Given the description of an element on the screen output the (x, y) to click on. 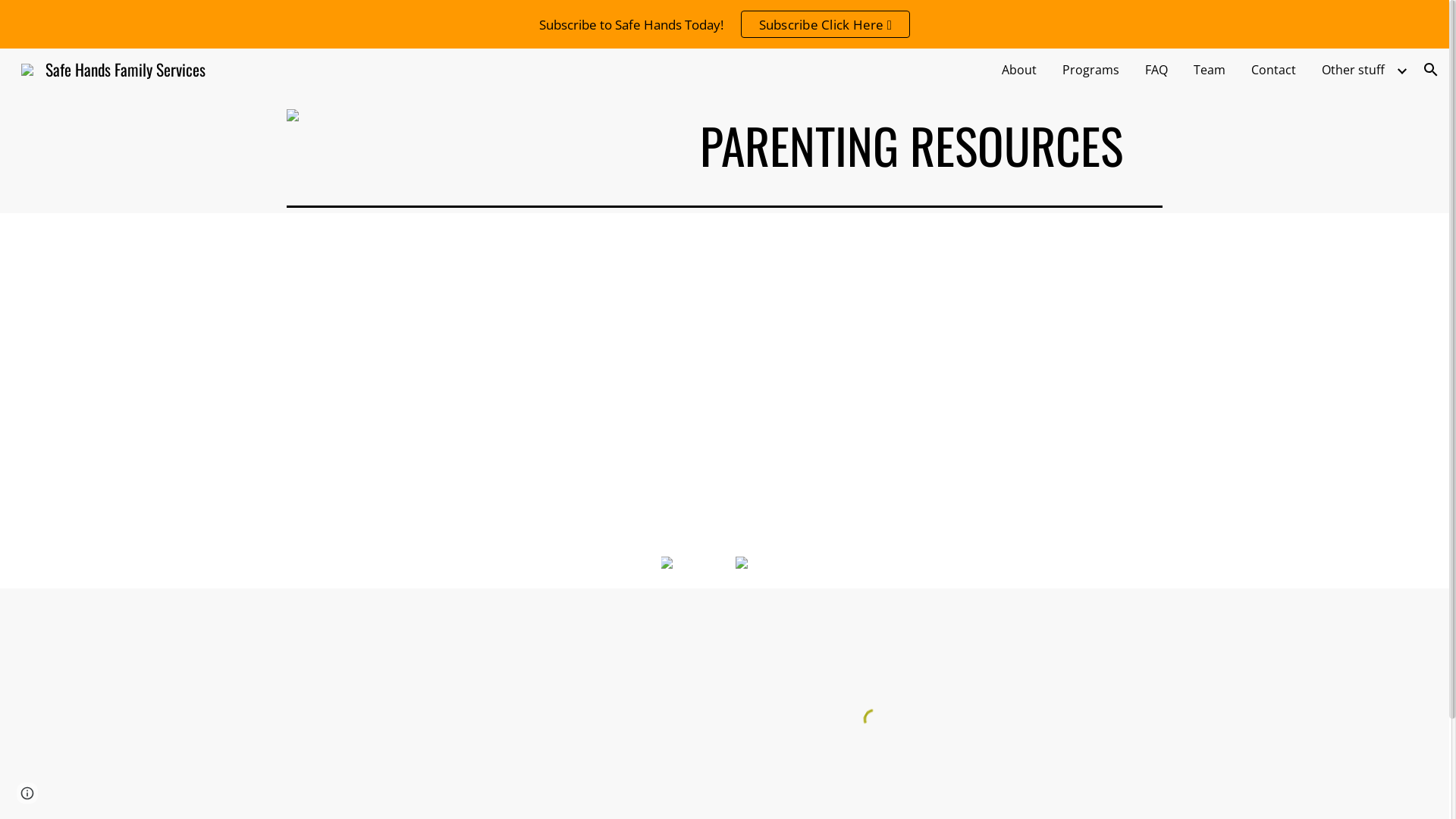
About Element type: text (1019, 69)
Contact Element type: text (1273, 69)
Expand/Collapse Element type: hover (1401, 69)
Other stuff Element type: text (1353, 69)
Safe Hands Family Services Element type: text (113, 66)
Programs Element type: text (1090, 69)
Team Element type: text (1209, 69)
FAQ Element type: text (1156, 69)
